Given the description of an element on the screen output the (x, y) to click on. 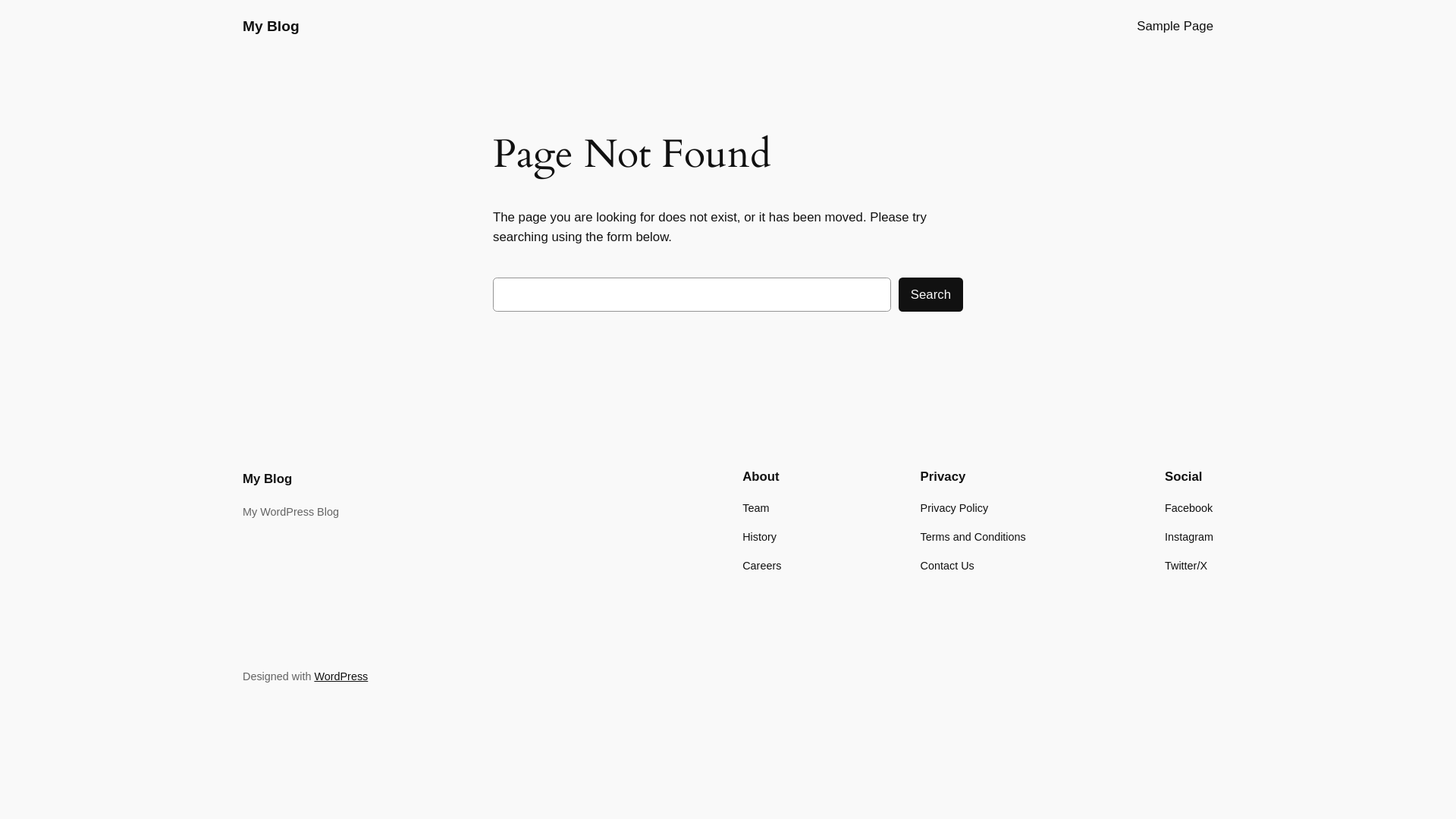
History Element type: text (759, 536)
WordPress Element type: text (340, 676)
My Blog Element type: text (266, 478)
Team Element type: text (755, 507)
Contact Us Element type: text (947, 565)
Facebook Element type: text (1188, 507)
Privacy Policy Element type: text (954, 507)
My Blog Element type: text (270, 26)
Careers Element type: text (761, 565)
Terms and Conditions Element type: text (973, 536)
Instagram Element type: text (1188, 536)
Twitter/X Element type: text (1185, 565)
Sample Page Element type: text (1174, 26)
Search Element type: text (930, 294)
